Given the description of an element on the screen output the (x, y) to click on. 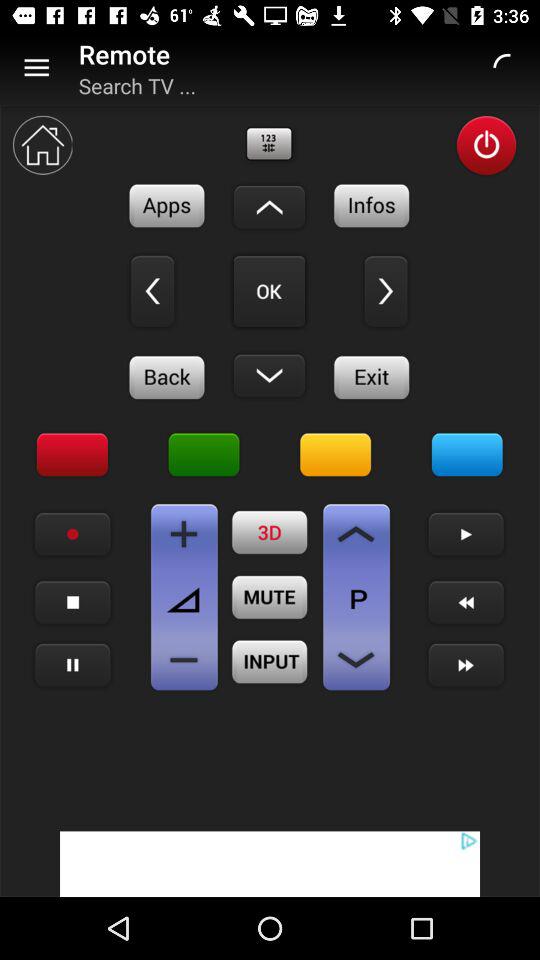
turn down the volume (183, 660)
